Given the description of an element on the screen output the (x, y) to click on. 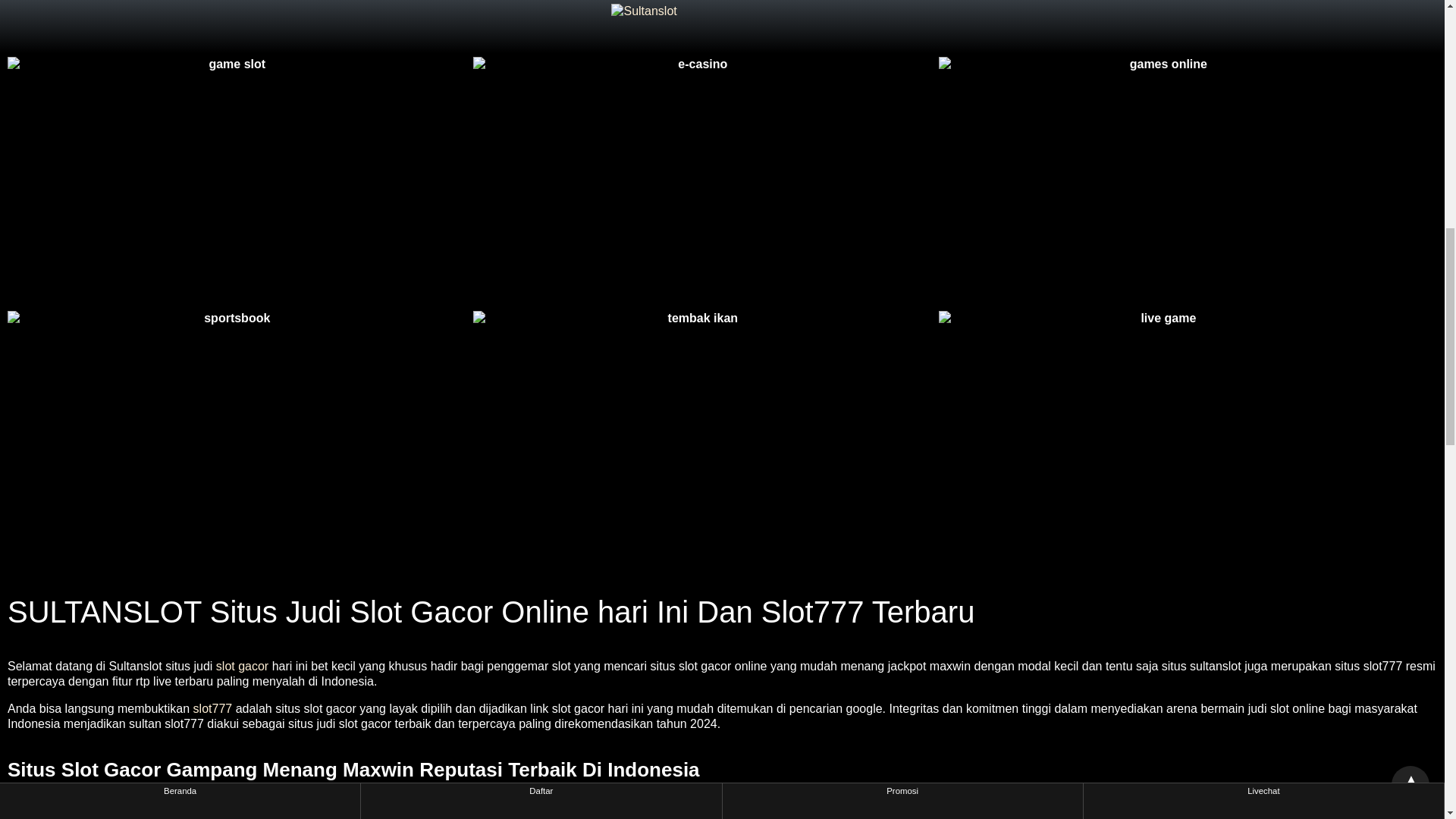
Daftar (540, 6)
Livechat (1263, 6)
Promosi (901, 6)
slot gacor (241, 666)
Beranda (179, 6)
slot777 (212, 707)
Sultanslot (34, 814)
